Given the description of an element on the screen output the (x, y) to click on. 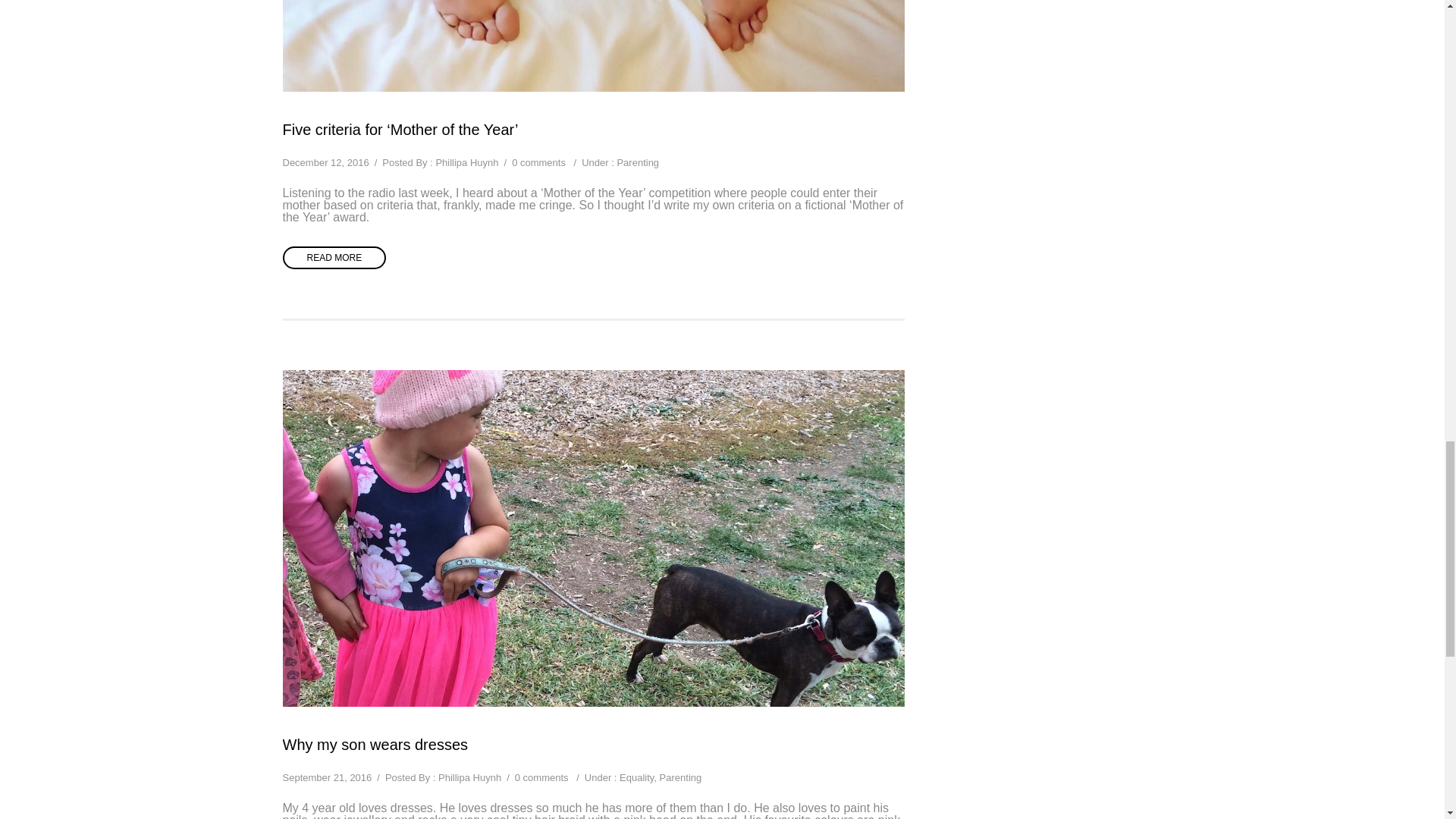
0 comments (542, 777)
Parenting (680, 777)
Parenting (637, 162)
0 comments (539, 162)
View all posts in Parenting (637, 162)
Why my son wears dresses (374, 744)
READ MORE (333, 257)
Equality (636, 777)
